Given the description of an element on the screen output the (x, y) to click on. 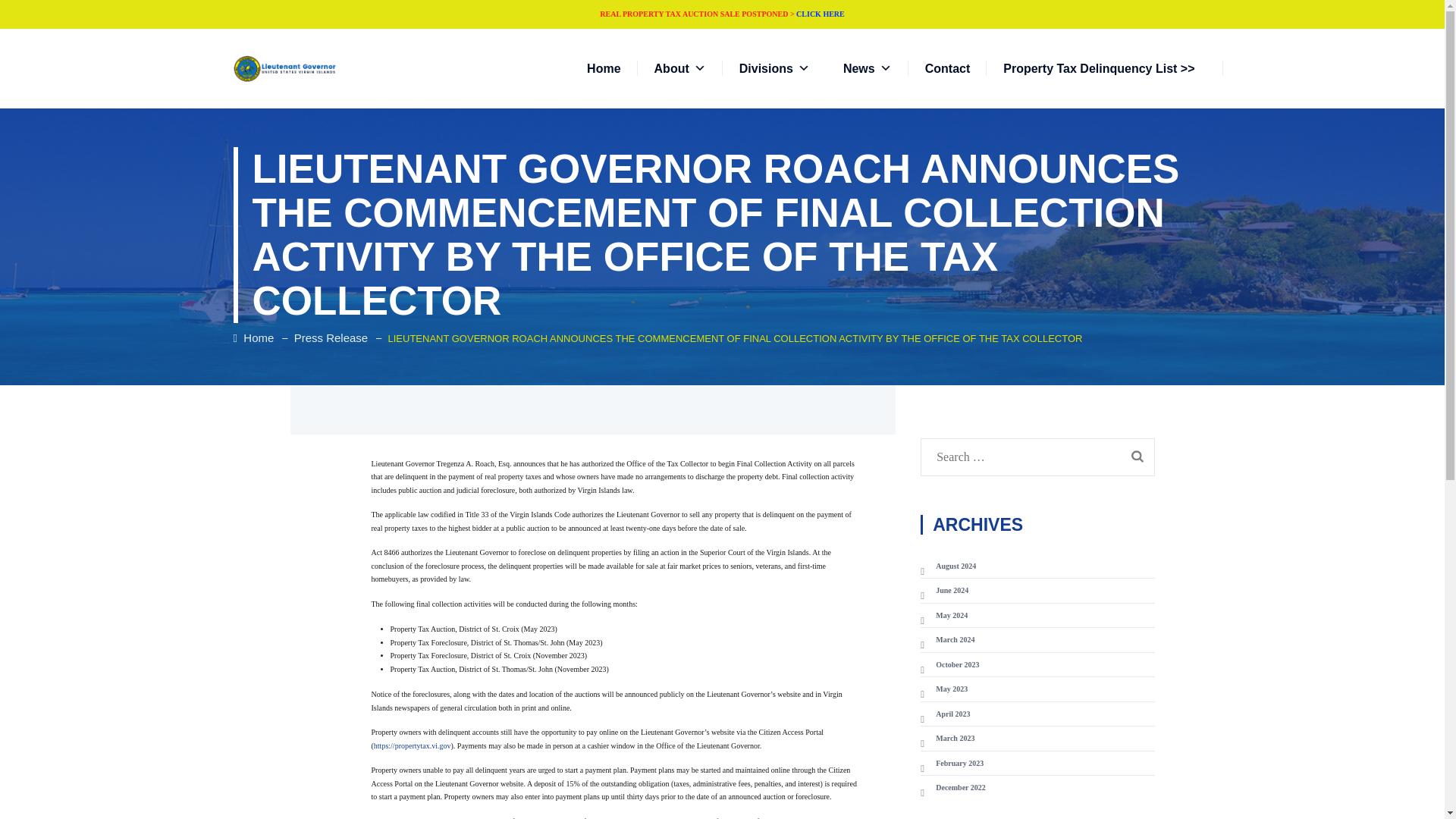
United States Virgin Islands (284, 68)
Press Release (331, 336)
Search (1136, 455)
May 2024 (944, 614)
Go to United States Virgin Islands. (253, 336)
October 2023 (949, 664)
Search (1136, 455)
June 2024 (944, 590)
CLICK HERE (820, 13)
August 2024 (947, 566)
